Given the description of an element on the screen output the (x, y) to click on. 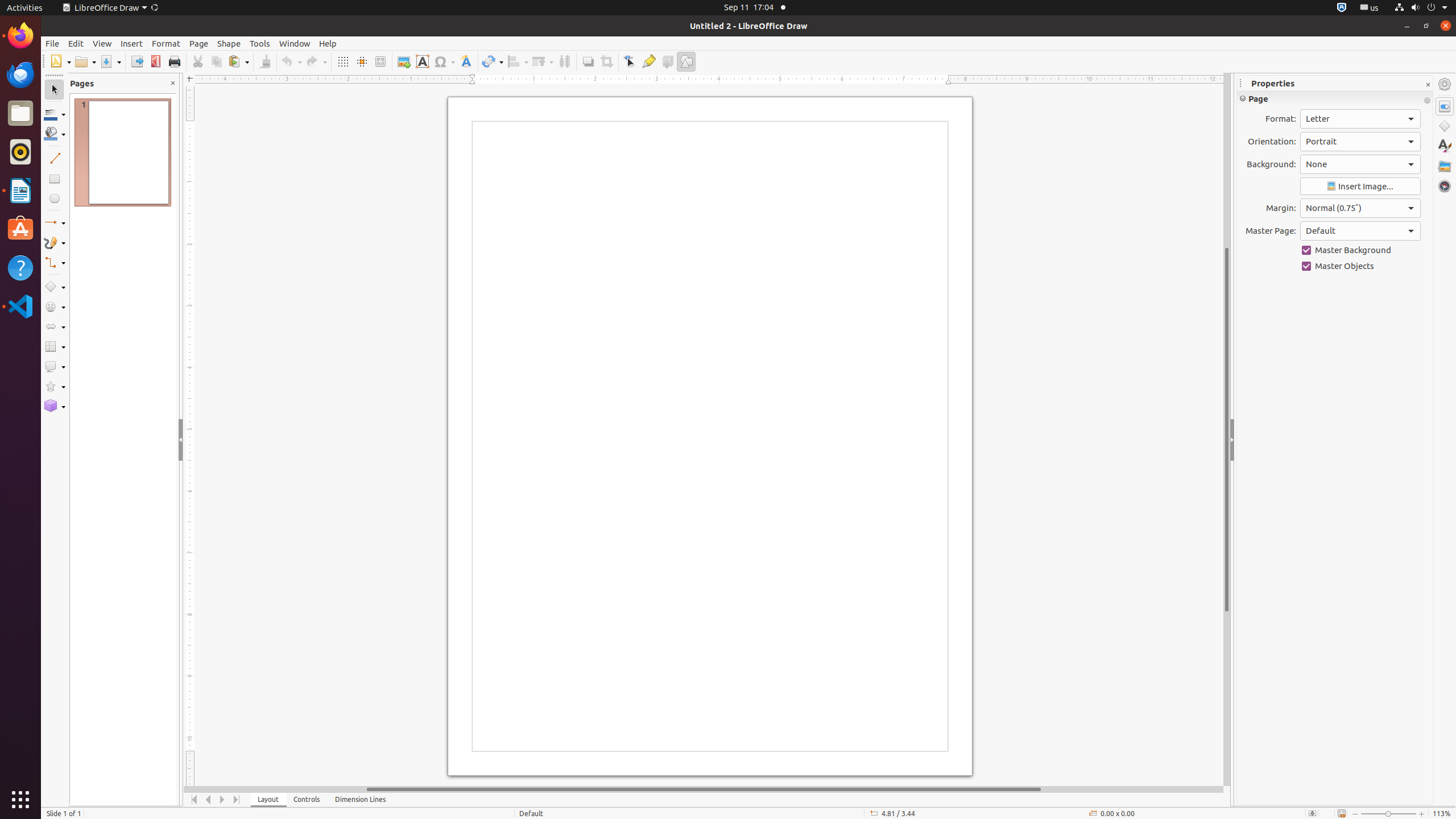
Draw Functions Element type: toggle-button (685, 61)
Shadow Element type: toggle-button (587, 61)
Print Element type: push-button (173, 61)
